Given the description of an element on the screen output the (x, y) to click on. 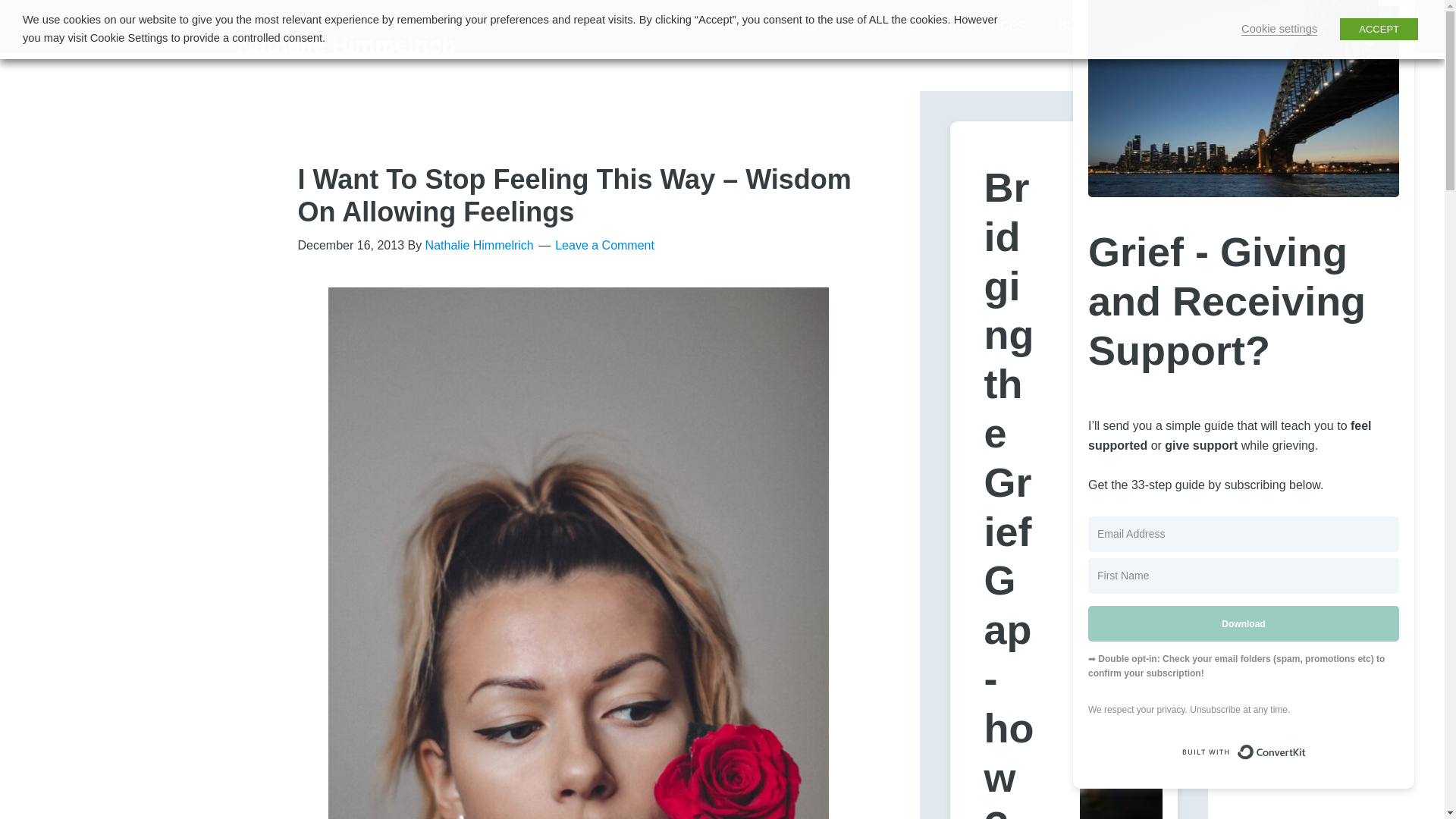
Nathalie Himmelrich (344, 44)
RESOURCES (986, 26)
BOOKS (795, 26)
BLOG (1074, 26)
PODCAST (1154, 26)
ABOUT ME (882, 26)
